Given the description of an element on the screen output the (x, y) to click on. 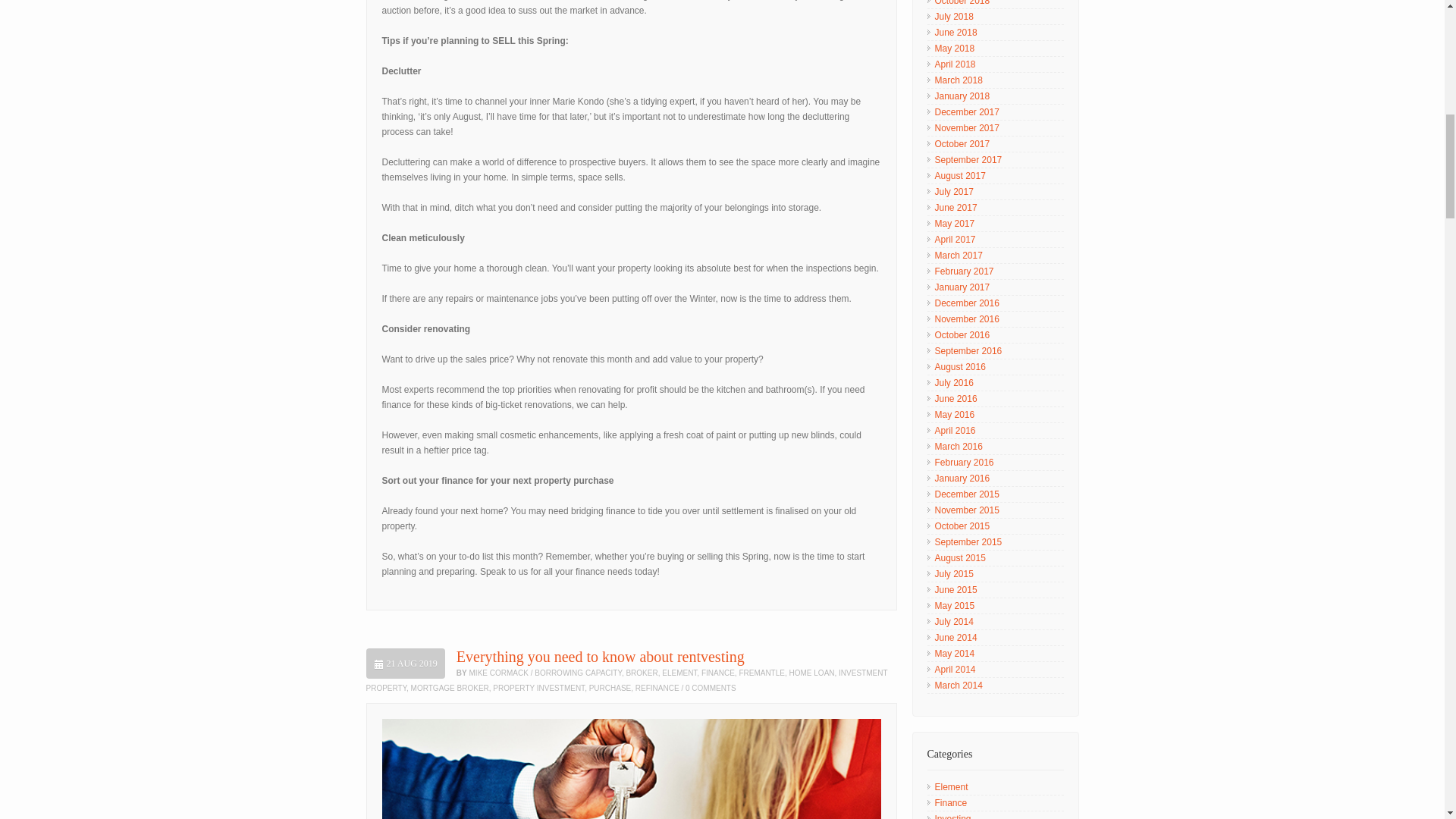
PROPERTY INVESTMENT (539, 687)
INVESTMENT PROPERTY (625, 680)
FINANCE (718, 673)
BROKER (642, 673)
ELEMENT (679, 673)
HOME LOAN (811, 673)
MIKE CORMACK (498, 673)
FREMANTLE (761, 673)
BORROWING CAPACITY (577, 673)
Everything you need to know about rentvesting (600, 656)
